Given the description of an element on the screen output the (x, y) to click on. 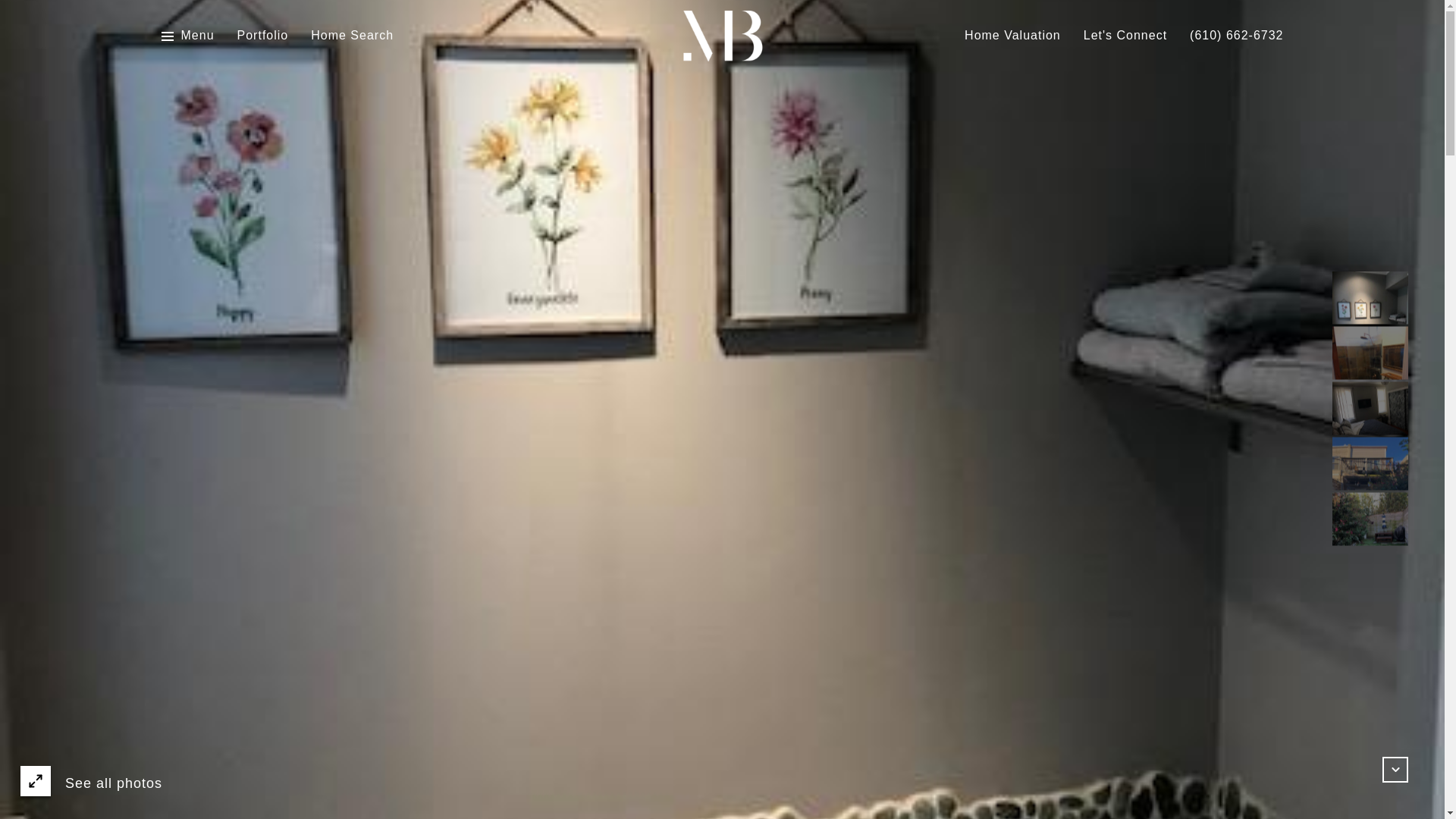
Portfolio (262, 35)
Home Search (352, 35)
Let'S Connect (1125, 35)
Menu (197, 35)
Home Valuation (1012, 35)
Menu (187, 35)
